Given the description of an element on the screen output the (x, y) to click on. 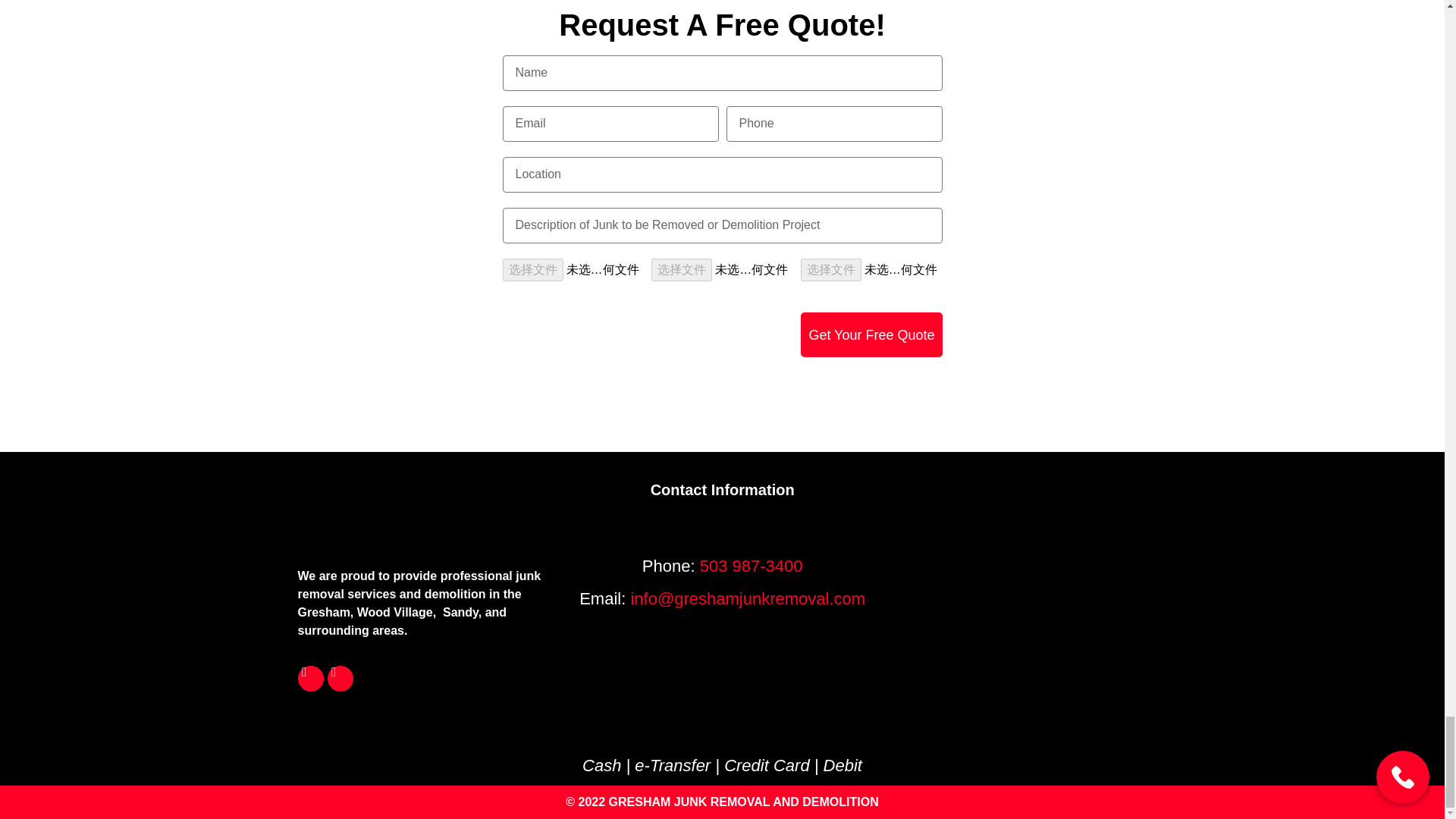
Gresham Junk Removal, 908 se Ironwood pl Gresham (1023, 596)
